Given the description of an element on the screen output the (x, y) to click on. 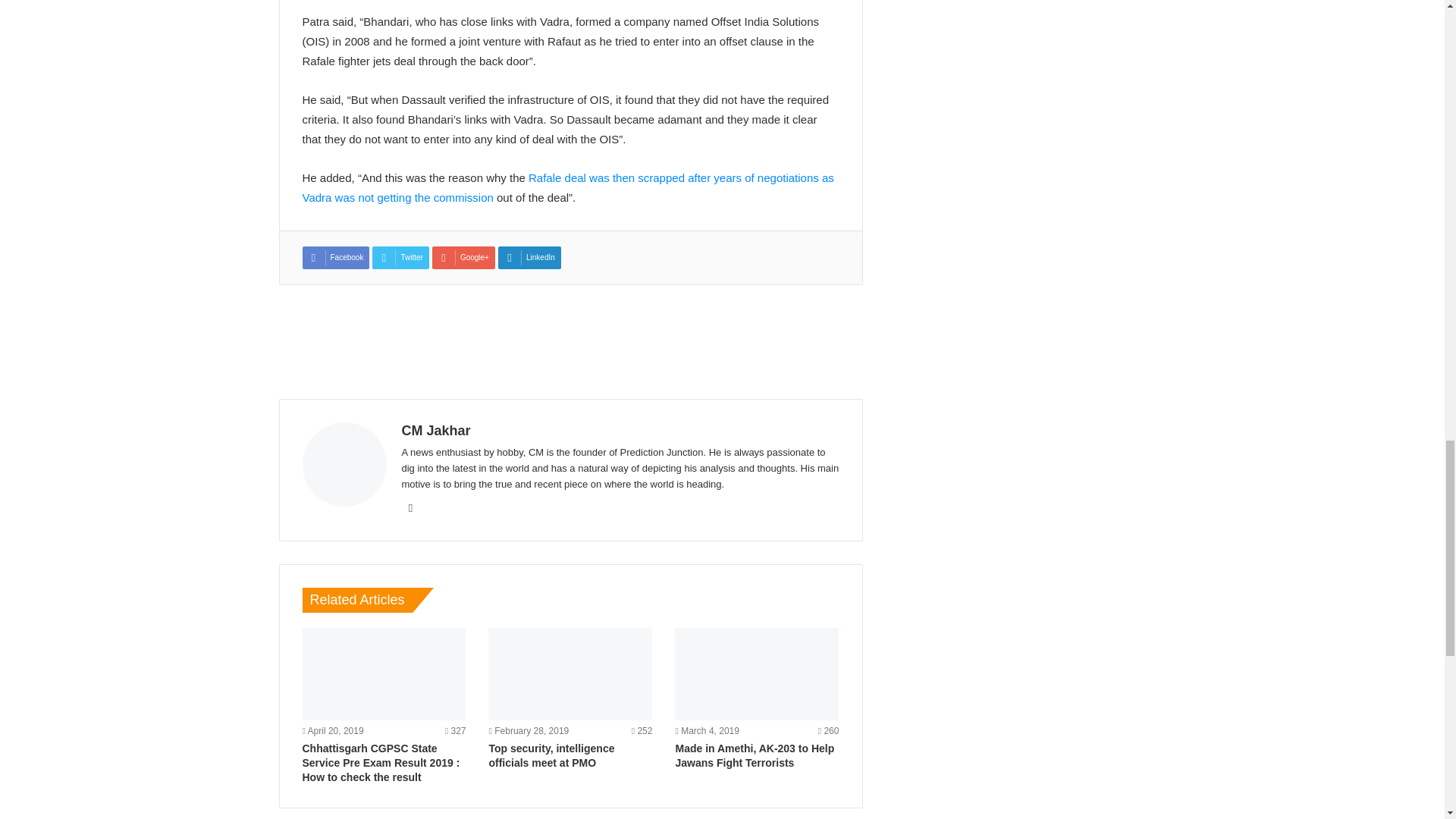
Twitter (400, 257)
Facebook (410, 508)
LinkedIn (528, 257)
Made in Amethi, AK-203 to Help Jawans Fight Terrorists (756, 674)
CM Jakhar (435, 430)
Made in Amethi, AK-203 to Help Jawans Fight Terrorists (754, 755)
Top security, intelligence officials meet at PMO (569, 674)
Top security, intelligence officials meet at PMO (550, 755)
Facebook (335, 257)
